Given the description of an element on the screen output the (x, y) to click on. 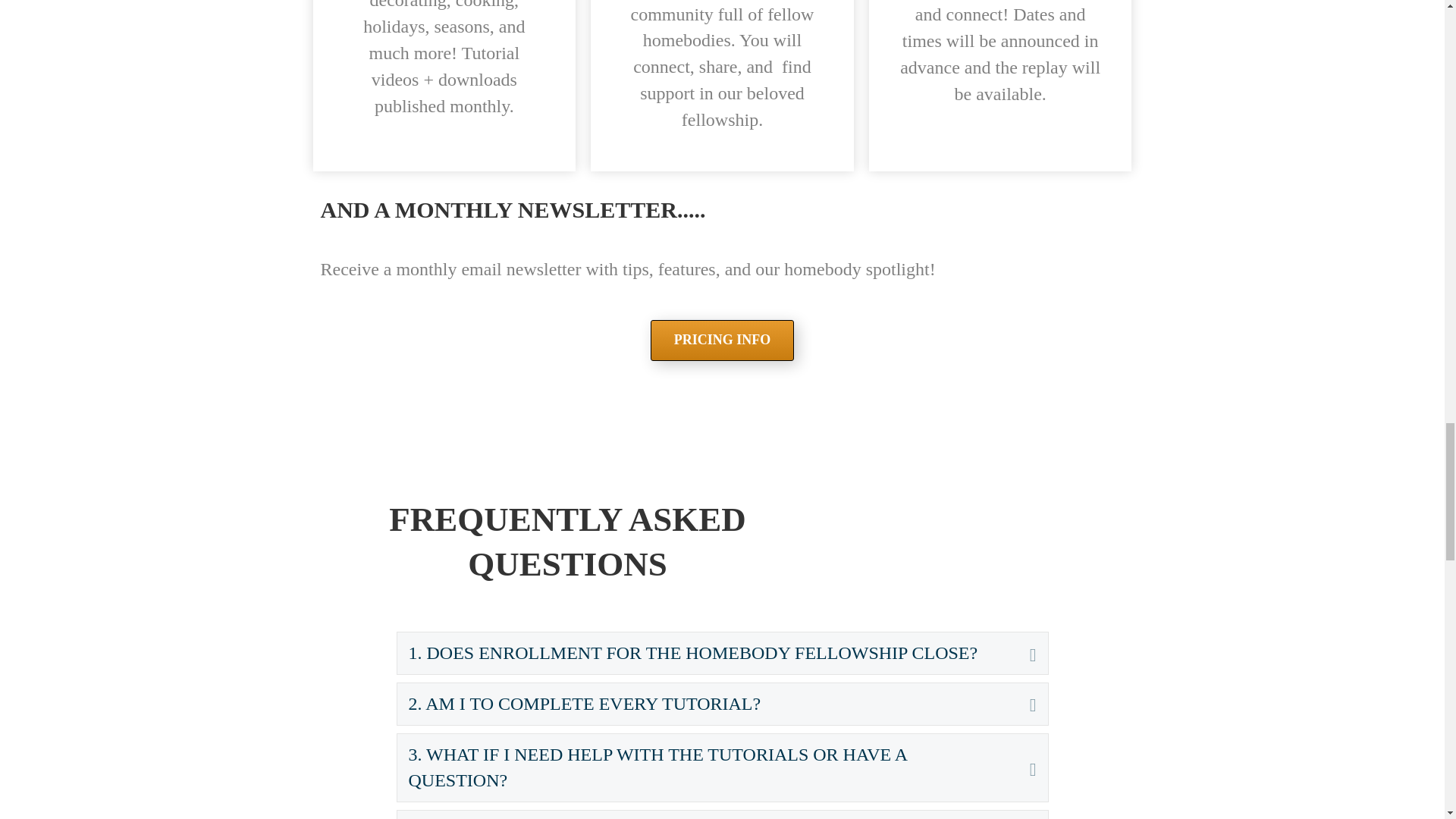
Expand (1021, 652)
Expand (1021, 704)
1. DOES ENROLLMENT FOR THE HOMEBODY FELLOWSHIP CLOSE? (706, 652)
PRICING INFO (722, 340)
2. AM I TO COMPLETE EVERY TUTORIAL? (706, 704)
